Given the description of an element on the screen output the (x, y) to click on. 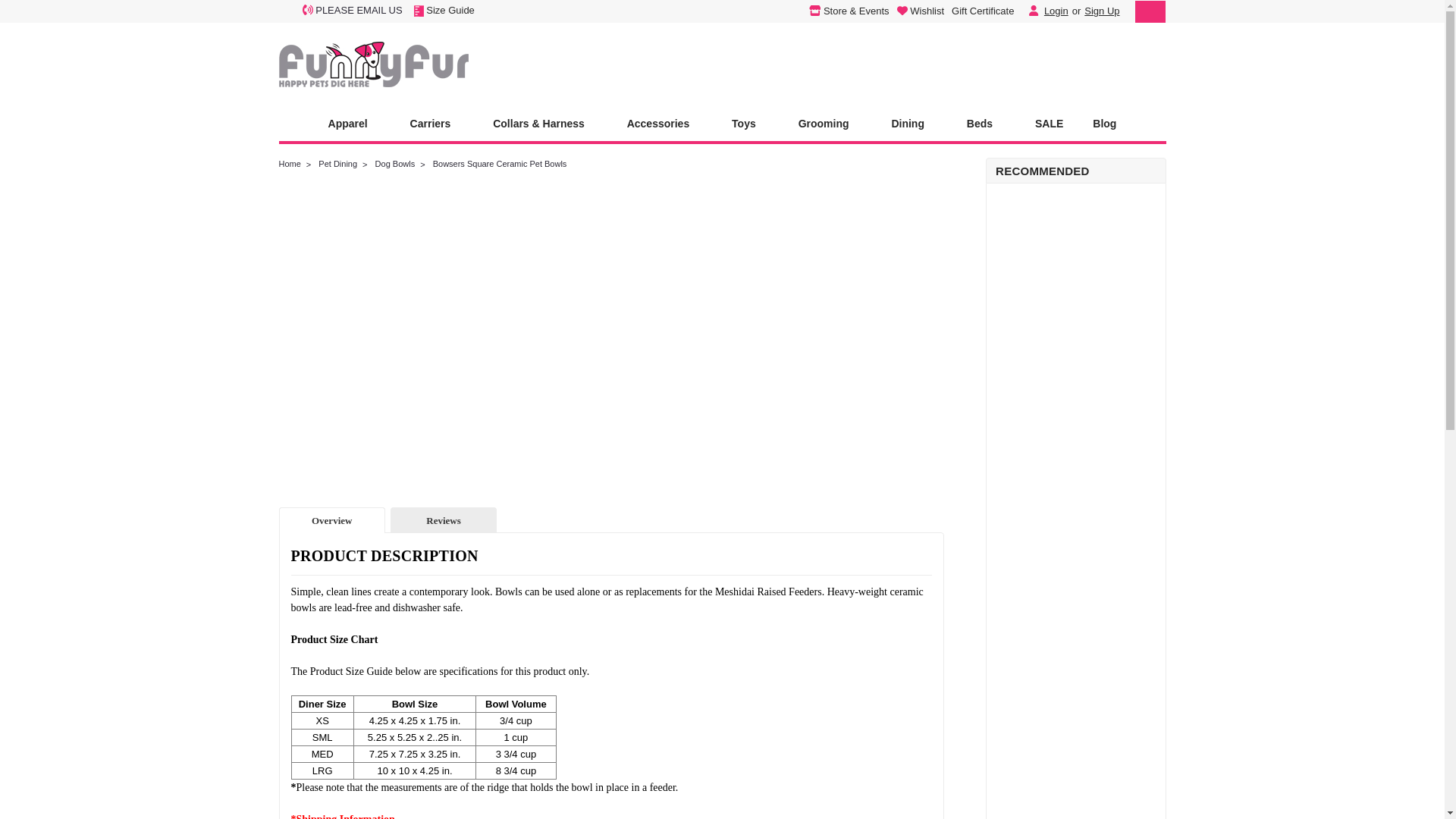
Gift Certificate (978, 11)
Wishlist (916, 11)
Login (1055, 11)
Size Guide (443, 9)
Funny Fur (373, 63)
Sign Up (1099, 11)
